Given the description of an element on the screen output the (x, y) to click on. 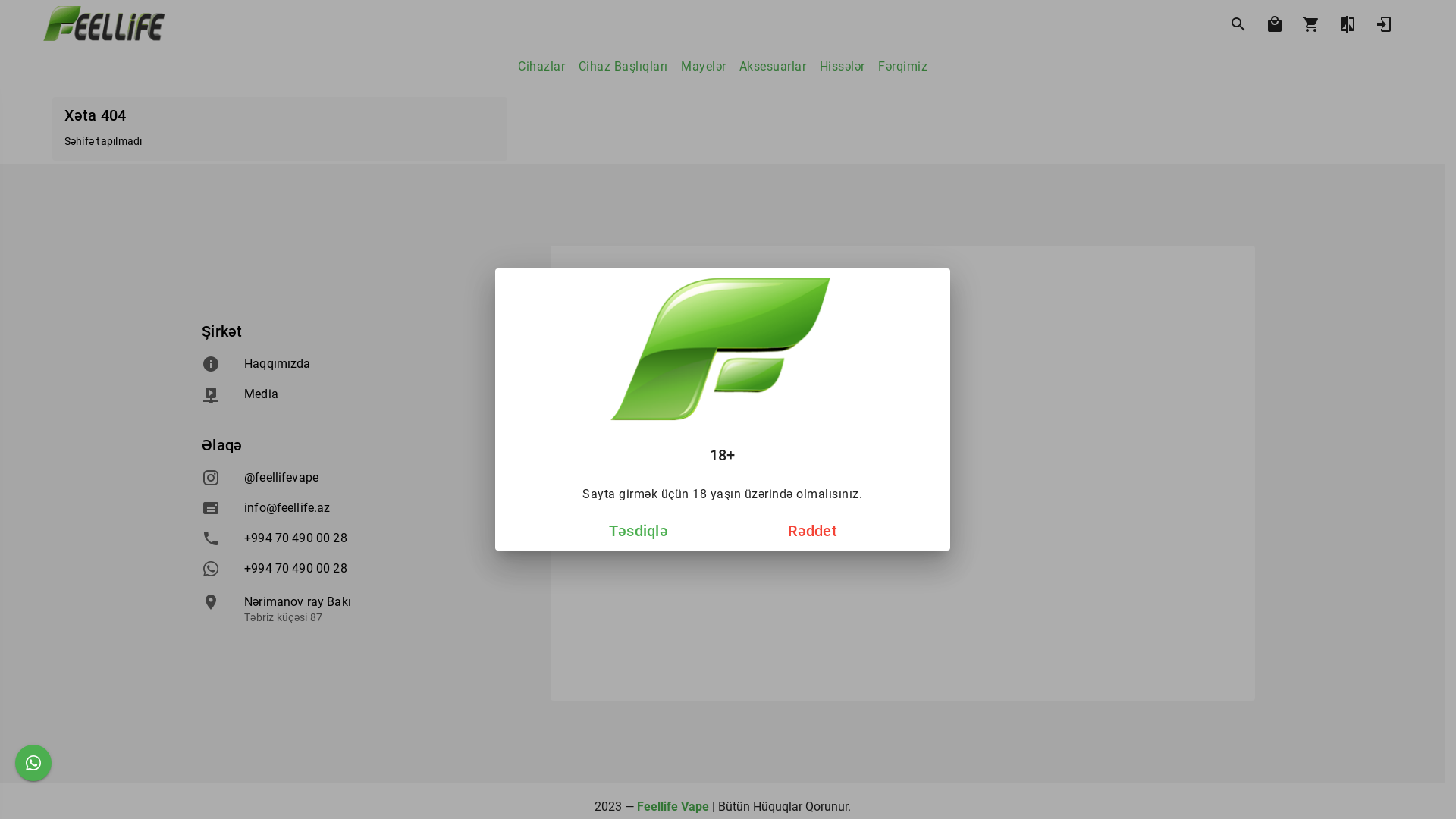
@feellifevape Element type: text (360, 477)
+994 70 490 00 28 Element type: text (360, 538)
Media Element type: text (360, 394)
Cihazlar Element type: text (541, 66)
Aksesuarlar Element type: text (772, 66)
+994 70 490 00 28 Element type: text (360, 568)
info@feellife.az Element type: text (360, 507)
